Given the description of an element on the screen output the (x, y) to click on. 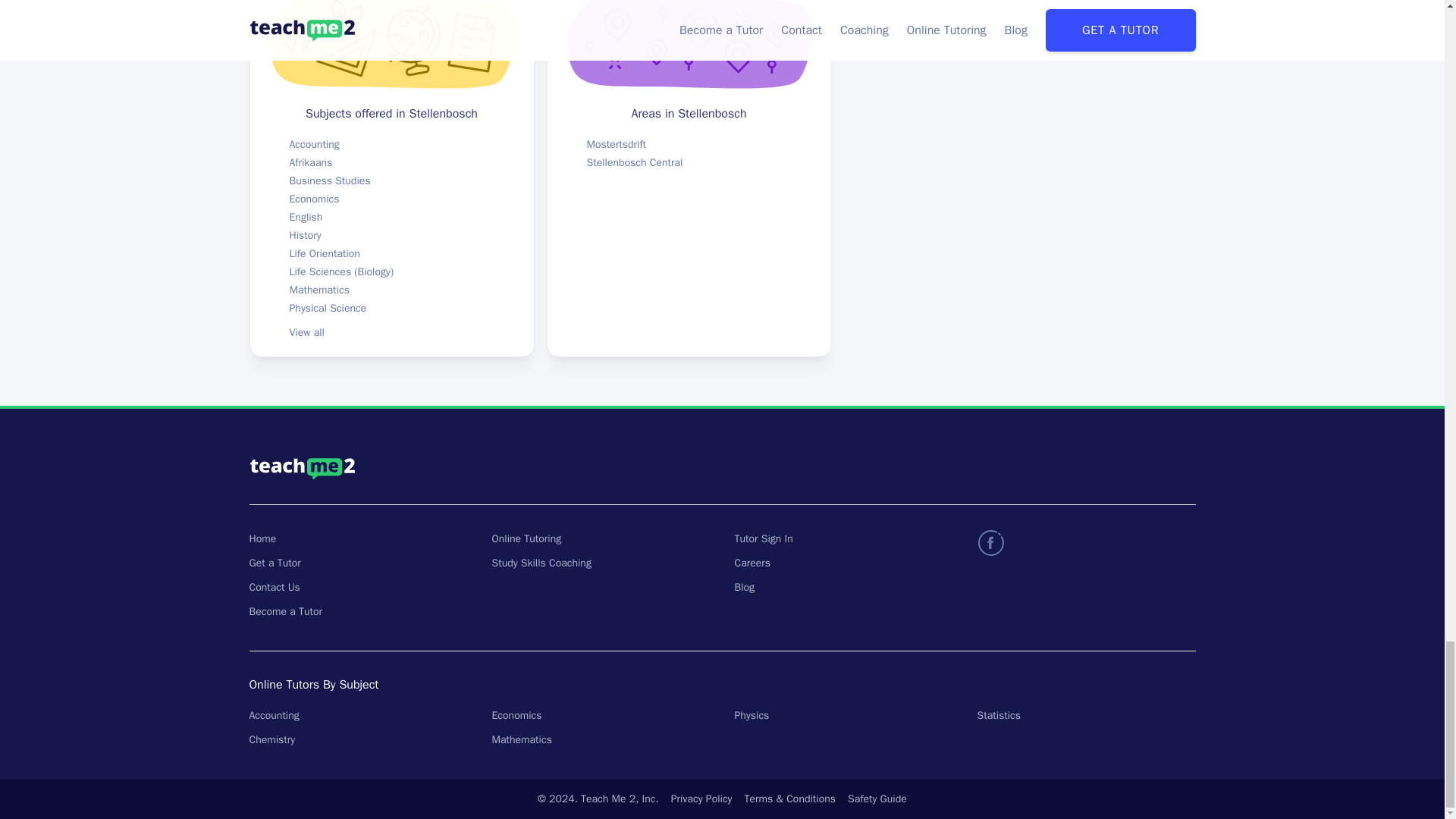
Select your locale (986, 468)
